Given the description of an element on the screen output the (x, y) to click on. 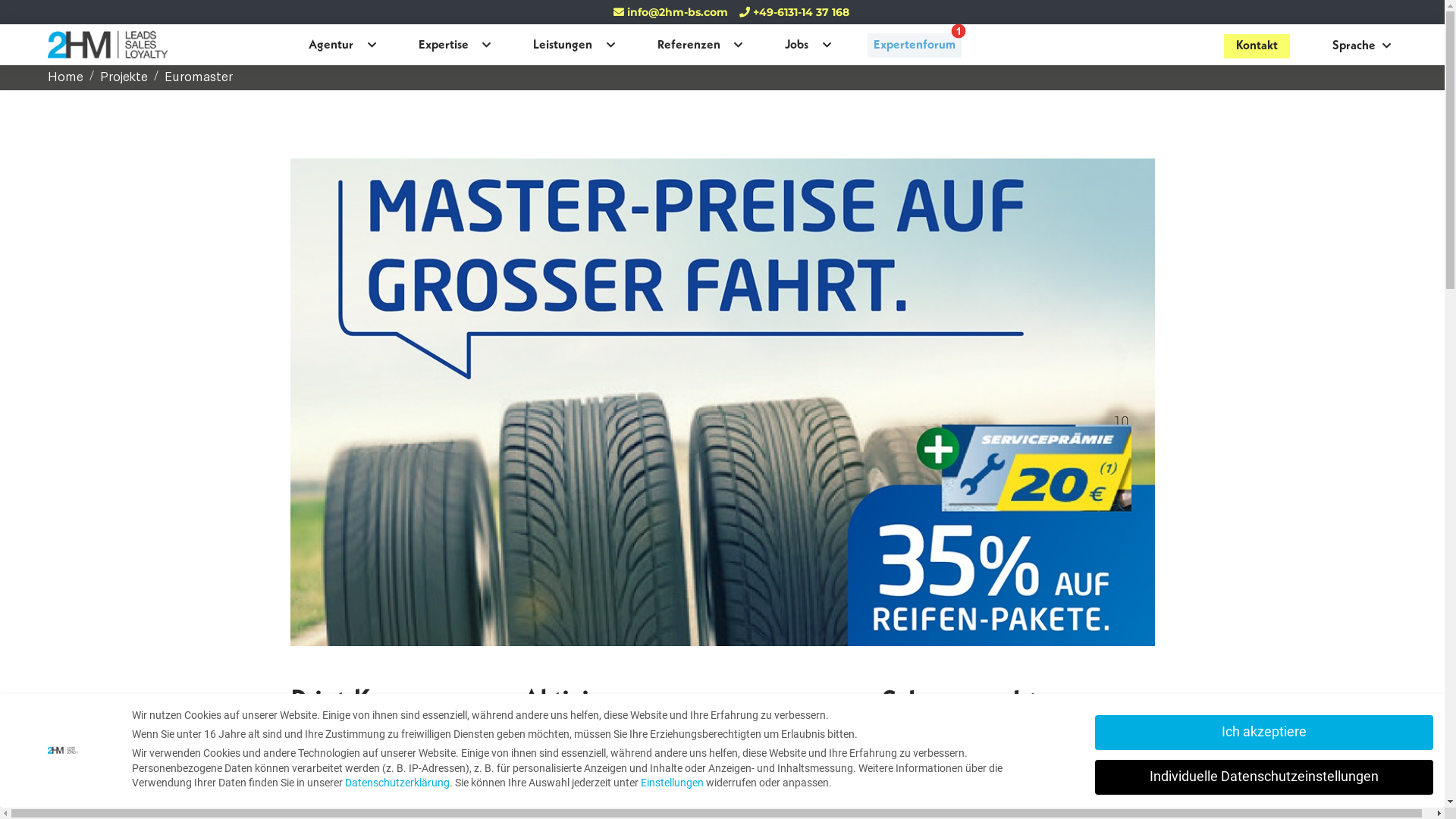
Jobs Element type: text (796, 45)
Sprache Element type: text (1360, 46)
Expertenforum Element type: text (914, 45)
Einstellungen Element type: text (671, 782)
Agentur Element type: text (330, 45)
Expertise Element type: text (443, 45)
Referenzen Element type: text (687, 45)
Leistungen Element type: text (562, 45)
info@2hm-bs.com Element type: text (670, 12)
+49-6131-14 37 168 Element type: text (794, 12)
Home Element type: text (65, 75)
Ich akzeptiere Element type: text (1264, 732)
Projekte Element type: text (123, 75)
Individuelle Datenschutzeinstellungen Element type: text (1264, 776)
Kontakt Element type: text (1256, 46)
